Given the description of an element on the screen output the (x, y) to click on. 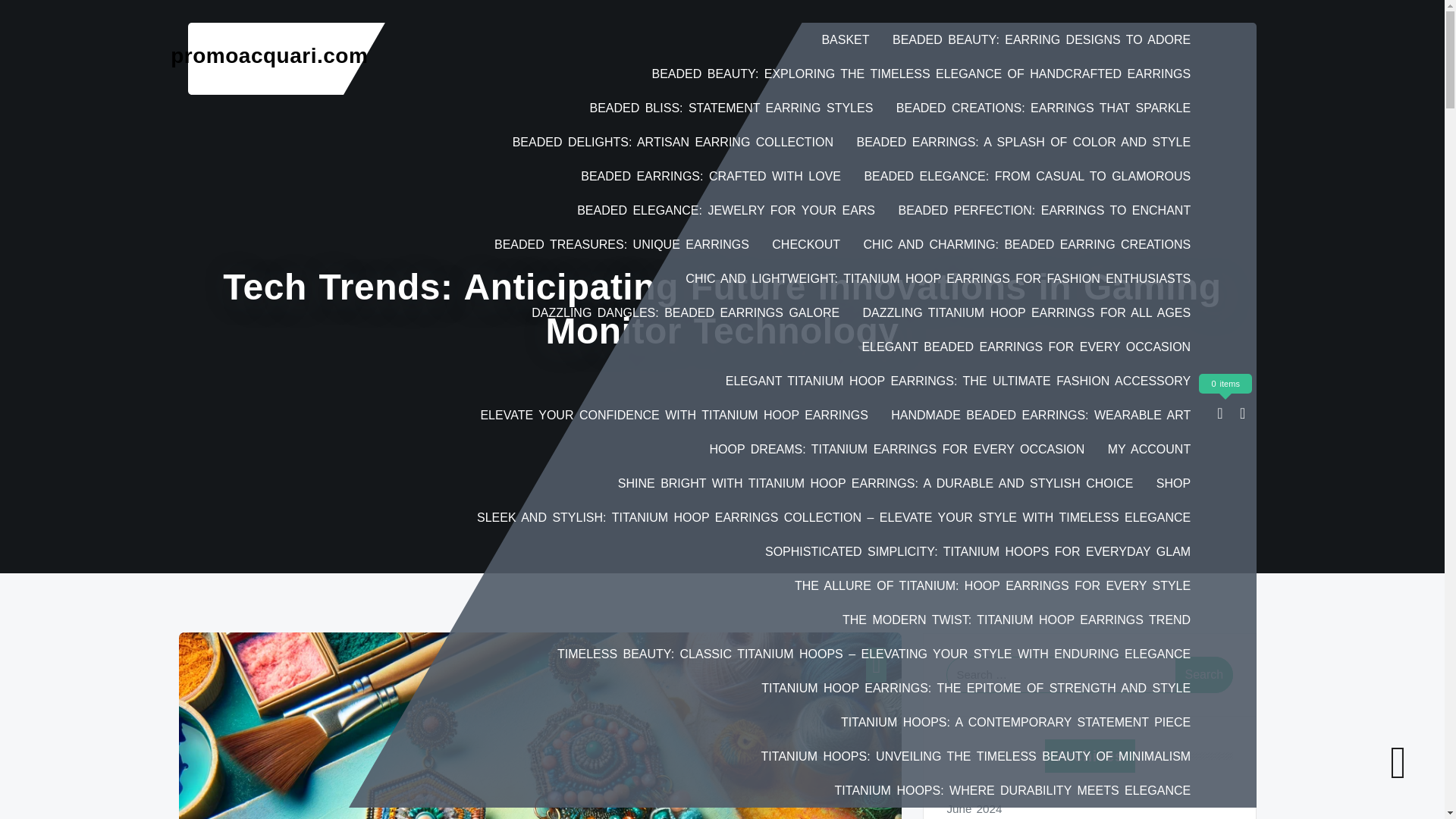
DAZZLING DANGLES: BEADED EARRINGS GALORE (685, 312)
SHOP (1173, 483)
DAZZLING TITANIUM HOOP EARRINGS FOR ALL AGES (1026, 312)
promoacquari.com (269, 55)
Search (1203, 674)
BEADED EARRINGS: A SPLASH OF COLOR AND STYLE (1023, 141)
BEADED PERFECTION: EARRINGS TO ENCHANT (1043, 210)
MY ACCOUNT (1149, 449)
THE ALLURE OF TITANIUM: HOOP EARRINGS FOR EVERY STYLE (992, 585)
TITANIUM HOOPS: UNVEILING THE TIMELESS BEAUTY OF MINIMALISM (975, 756)
TITANIUM HOOPS: WHERE DURABILITY MEETS ELEGANCE (1012, 790)
Search (1203, 674)
TITANIUM HOOP EARRINGS: THE EPITOME OF STRENGTH AND STYLE (975, 687)
